Given the description of an element on the screen output the (x, y) to click on. 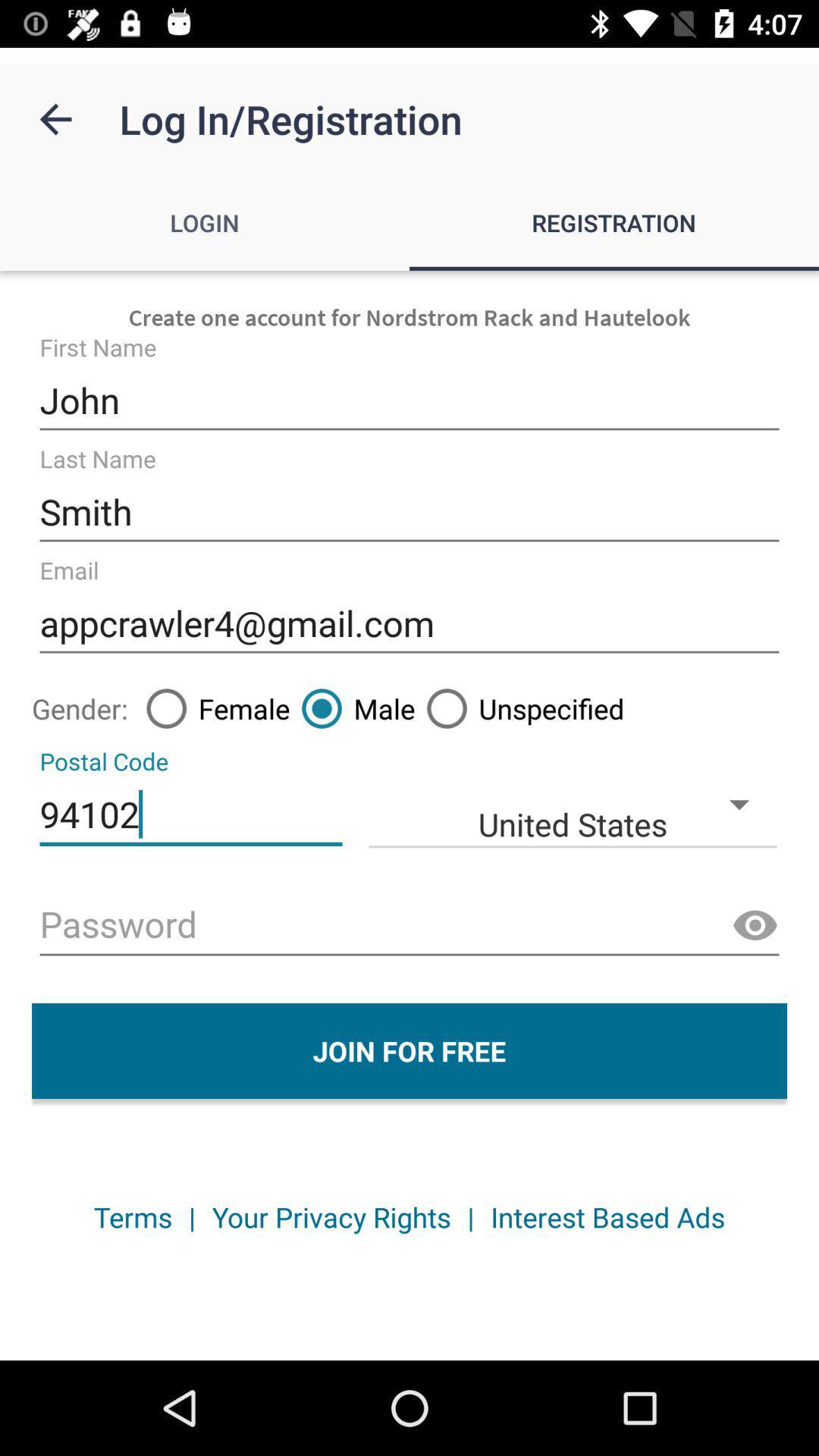
view password (755, 925)
